Given the description of an element on the screen output the (x, y) to click on. 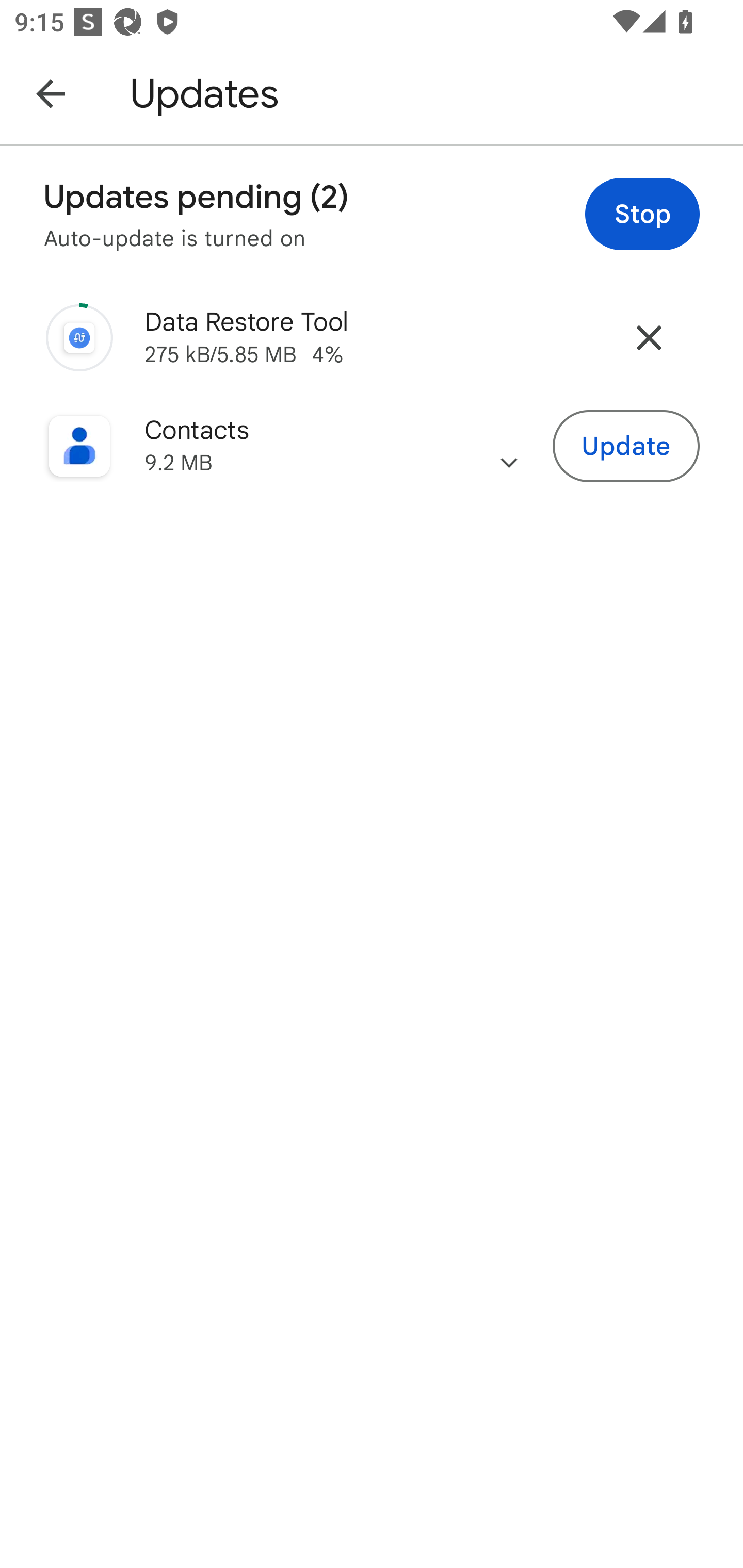
Navigate up (50, 92)
Stop (642, 213)
Cancel (648, 337)
Changes in the app (508, 446)
Update (625, 446)
